Given the description of an element on the screen output the (x, y) to click on. 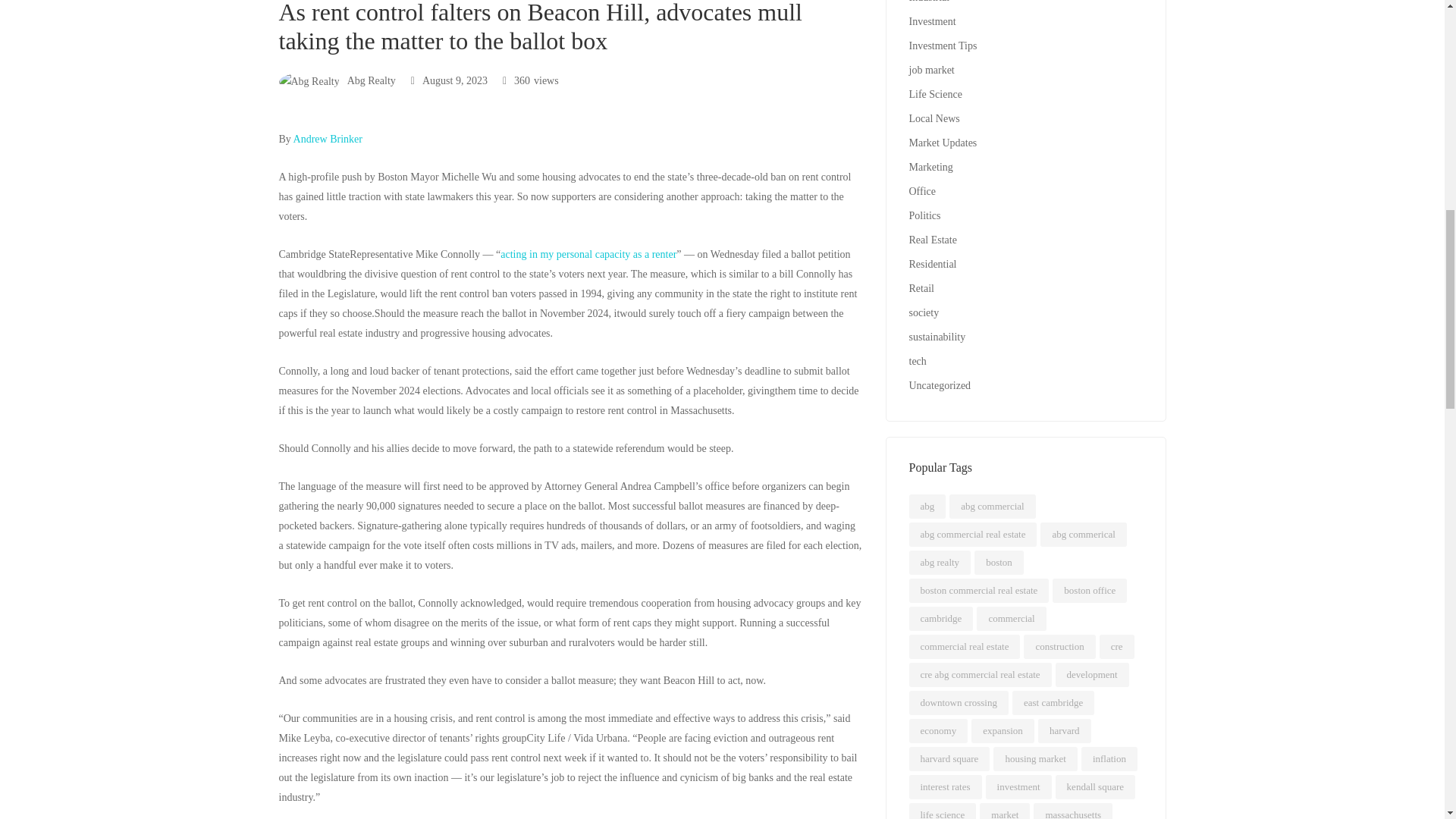
Browse Author Articles (337, 80)
Andrew Brinker (326, 138)
Abg Realty (337, 80)
acting in my personal capacity as a renter (588, 254)
August 9, 2023 (448, 80)
